Given the description of an element on the screen output the (x, y) to click on. 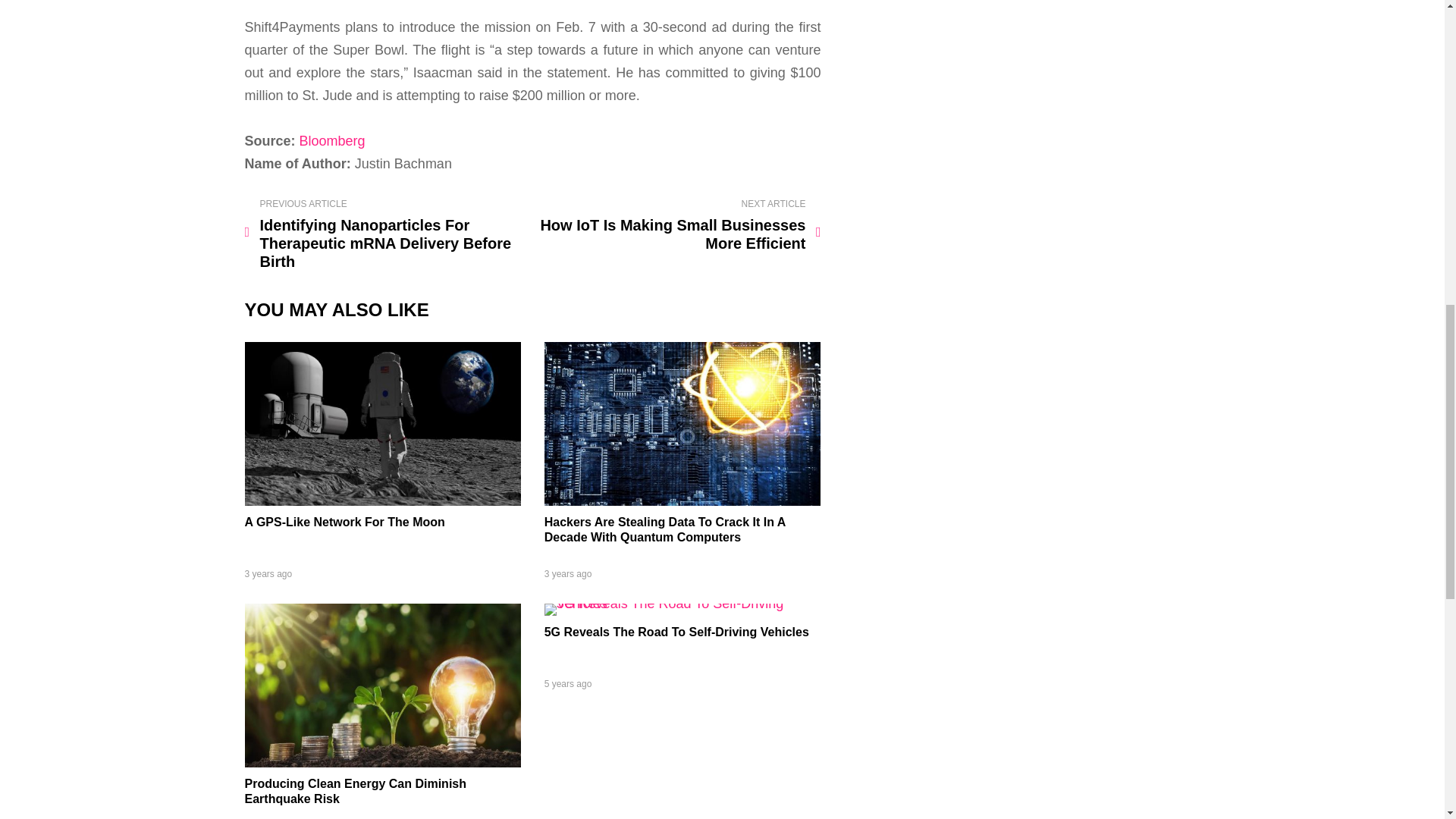
Producing Clean Energy Can Diminish Earthquake Risk (354, 791)
5G Reveals The Road To Self-Driving Vehicles (682, 603)
Producing Clean Energy Can Diminish Earthquake Risk (382, 762)
How IoT Is Making Small Businesses More Efficient (679, 225)
A GPS-Like Network For The Moon (344, 521)
5G Reveals The Road To Self-Driving Vehicles (676, 631)
A GPS-Like Network For The Moon (382, 500)
